Given the description of an element on the screen output the (x, y) to click on. 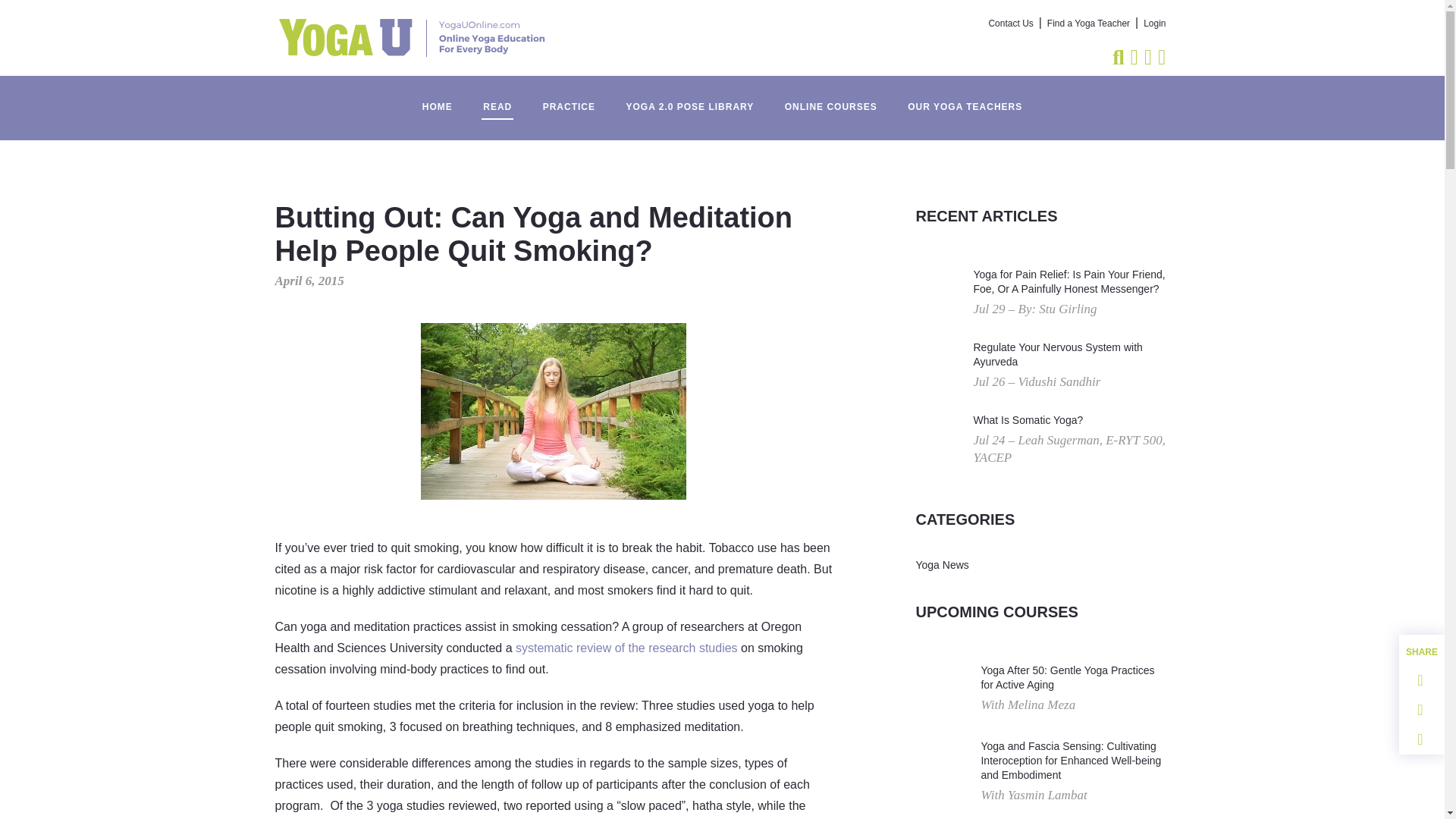
HOME (437, 99)
YOGA 2.0 POSE LIBRARY (689, 99)
Find a Yoga Teacher (1088, 23)
PRACTICE (568, 99)
Contact Us (1011, 23)
systematic review of the research studies (626, 647)
OUR YOGA TEACHERS (964, 99)
ONLINE COURSES (831, 99)
READ (496, 99)
